Given the description of an element on the screen output the (x, y) to click on. 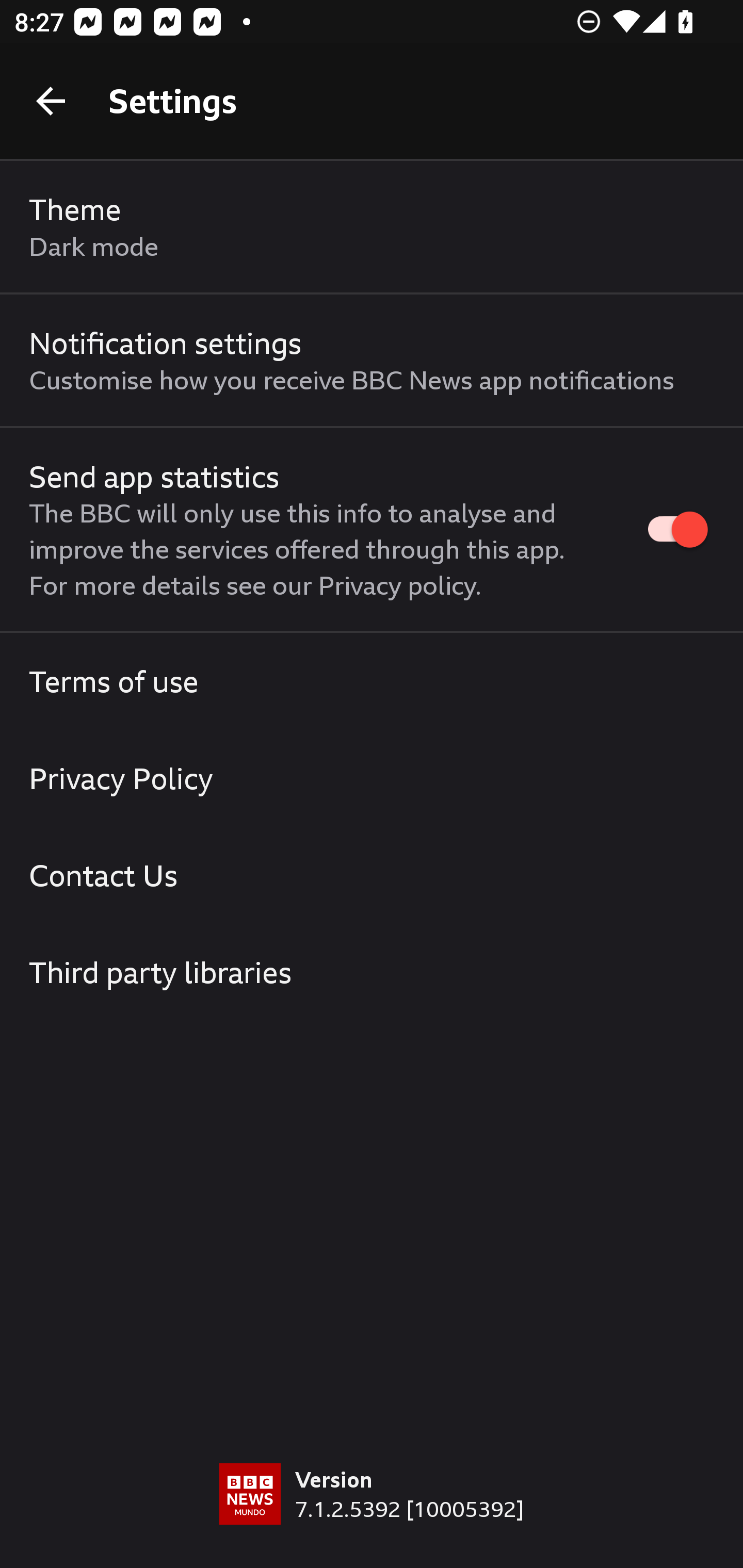
Back (50, 101)
Theme Dark mode (371, 227)
Terms of use (371, 681)
Privacy Policy (371, 777)
Contact Us (371, 874)
Third party libraries (371, 971)
Version 7.1.2.5392 [10005392] (371, 1515)
